Given the description of an element on the screen output the (x, y) to click on. 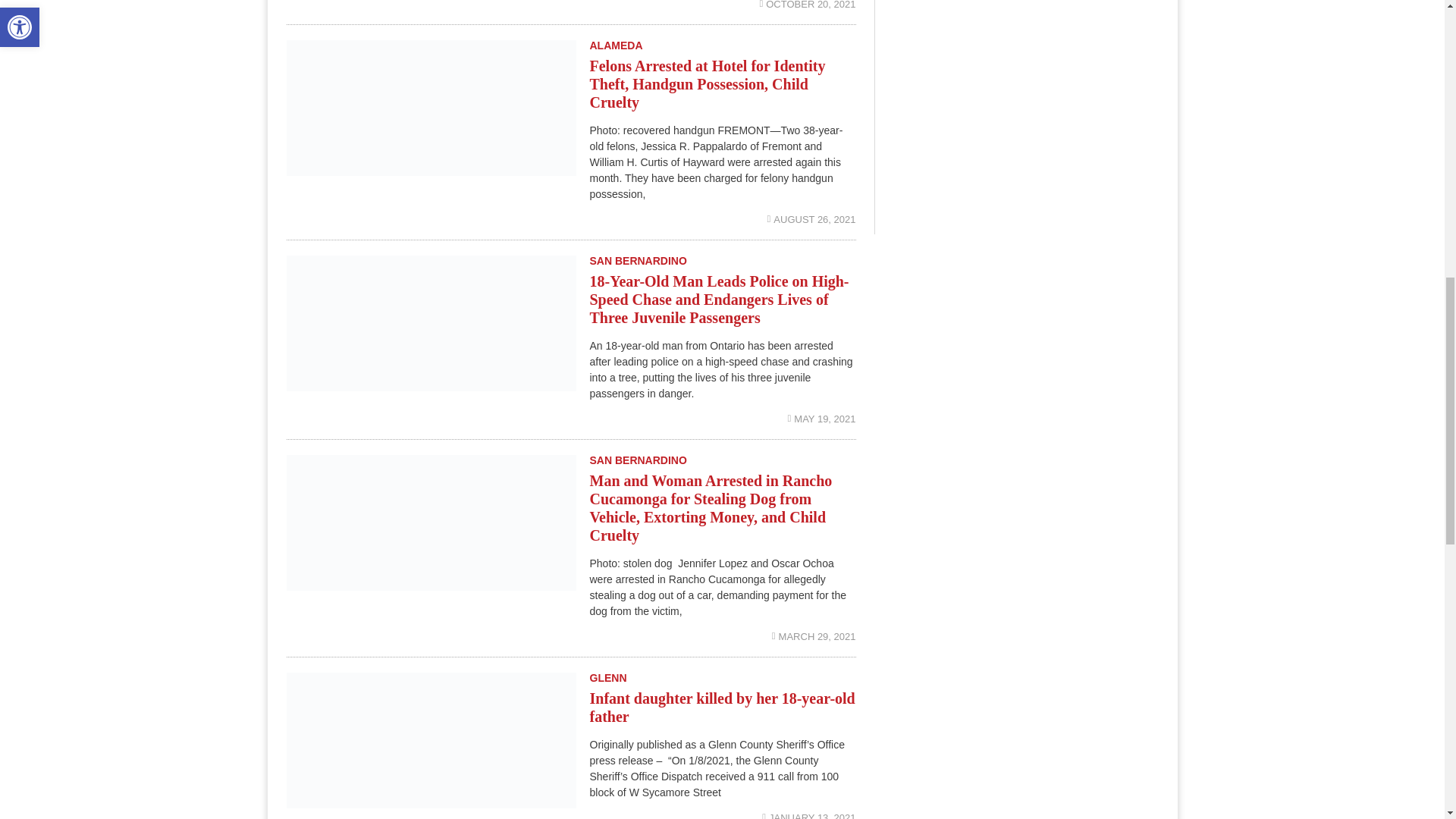
ALAMEDA (616, 45)
OCTOBER 20, 2021 (807, 4)
MAY 19, 2021 (821, 419)
SAN BERNARDINO (638, 460)
AUGUST 26, 2021 (811, 219)
MARCH 29, 2021 (813, 636)
SAN BERNARDINO (638, 260)
